Given the description of an element on the screen output the (x, y) to click on. 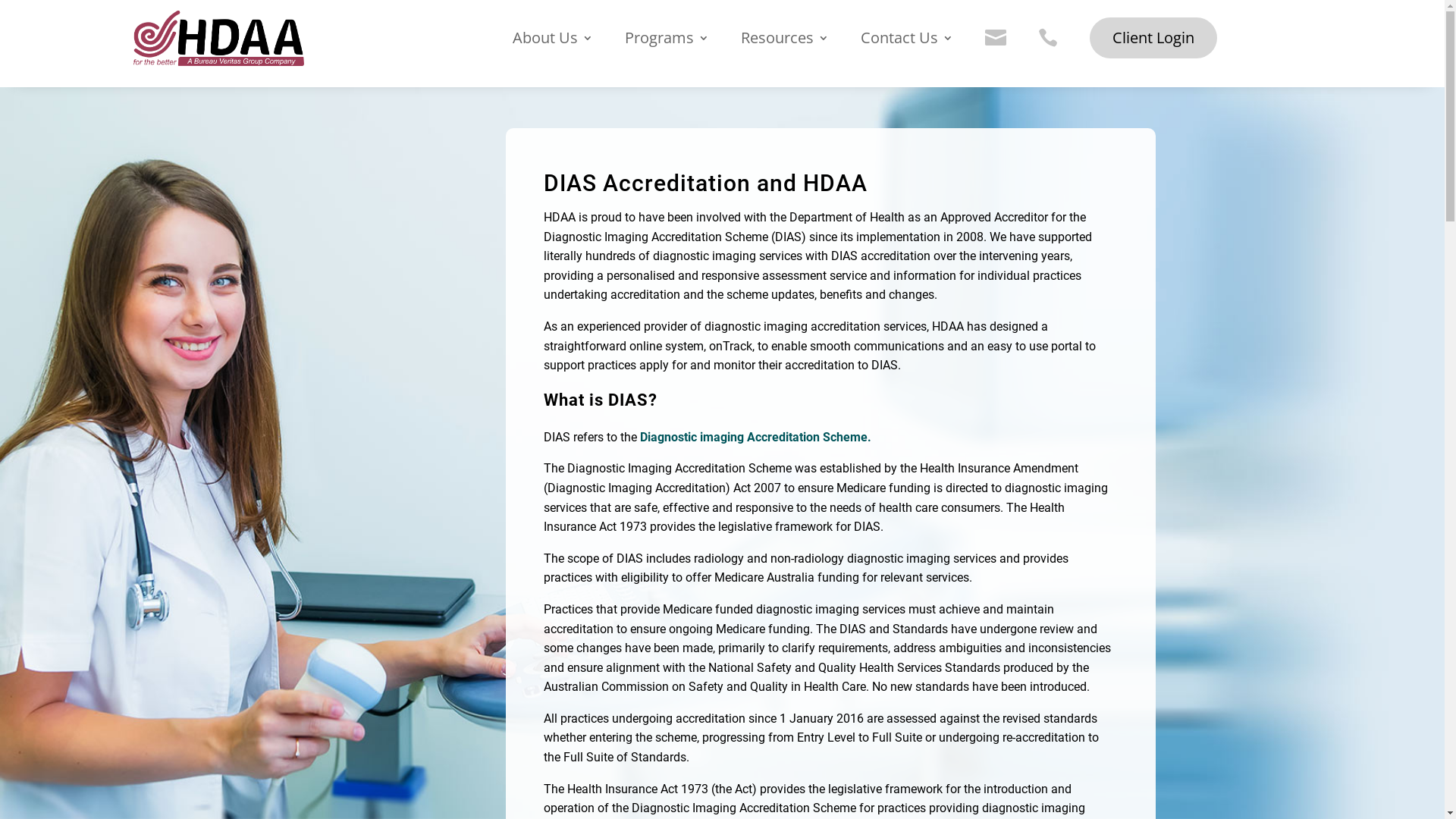
Diagnostic imaging Accreditation Scheme. Element type: text (754, 436)
Logo_White_Small Element type: hover (218, 37)
About Us Element type: text (552, 45)
Client Login Element type: text (1153, 37)
Contact Us Element type: text (906, 45)
Resources Element type: text (784, 45)
Programs Element type: text (666, 45)
